Given the description of an element on the screen output the (x, y) to click on. 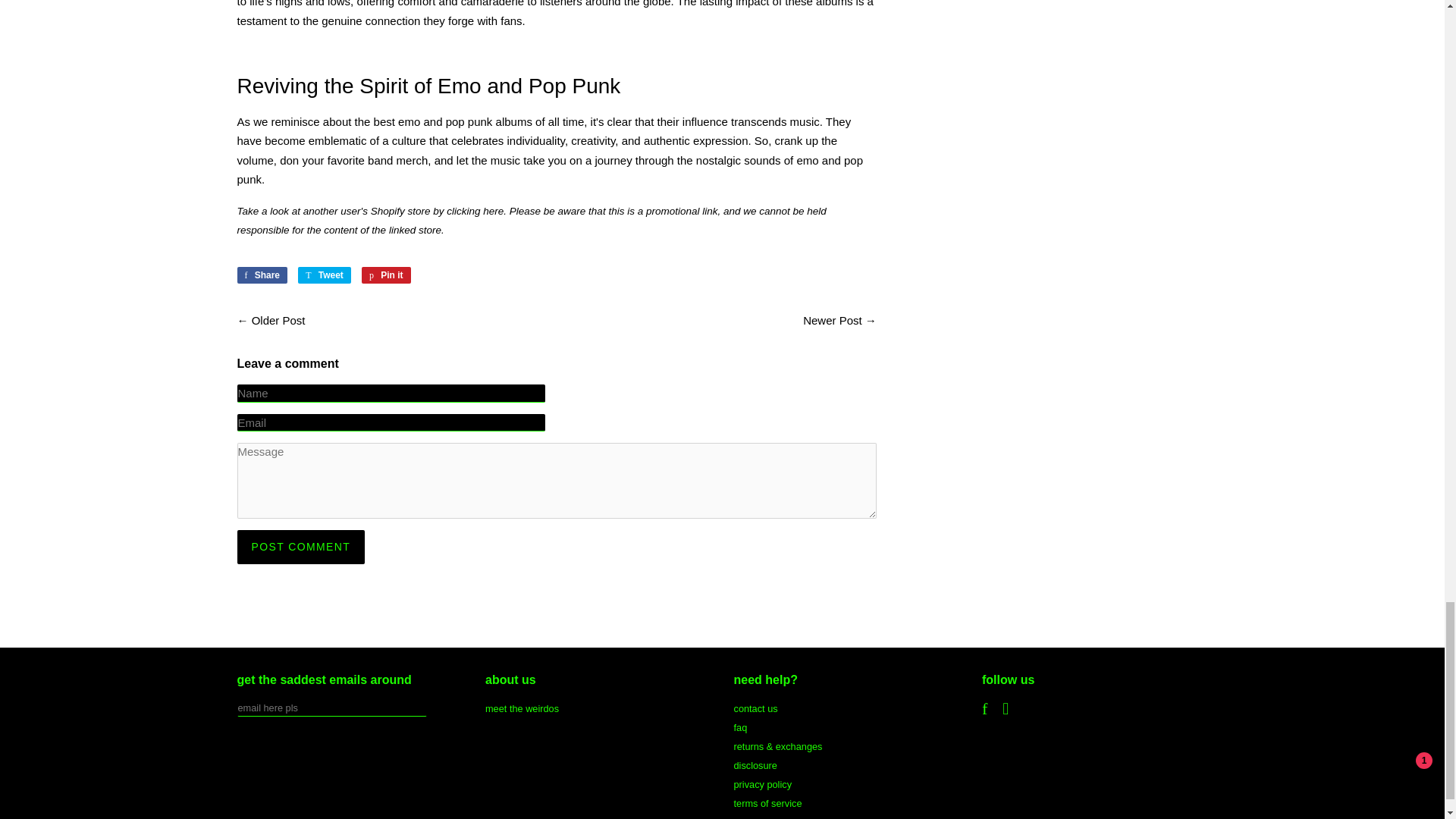
Older Post (385, 274)
Pin on Pinterest (278, 319)
Share on Facebook (385, 274)
Post comment (260, 274)
here (300, 546)
Post comment (324, 274)
Tweet on Twitter (493, 211)
Newer Post (300, 546)
